Given the description of an element on the screen output the (x, y) to click on. 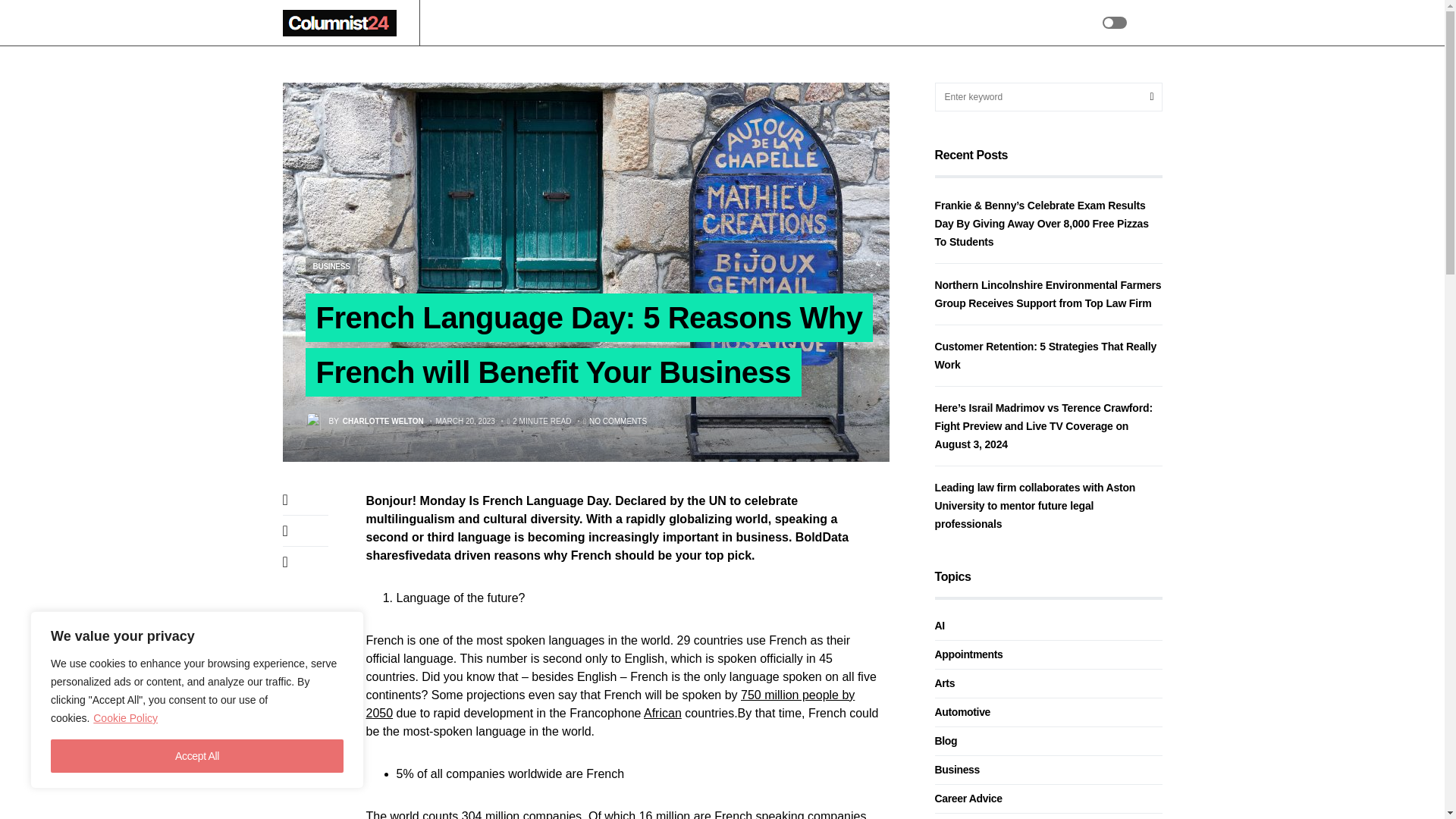
Technology (633, 22)
View all posts by Charlotte Welton (363, 421)
Accept All (196, 756)
Cookie Policy (125, 717)
All News (456, 22)
Write For Us (829, 22)
Social Media (753, 22)
Business (514, 22)
